Given the description of an element on the screen output the (x, y) to click on. 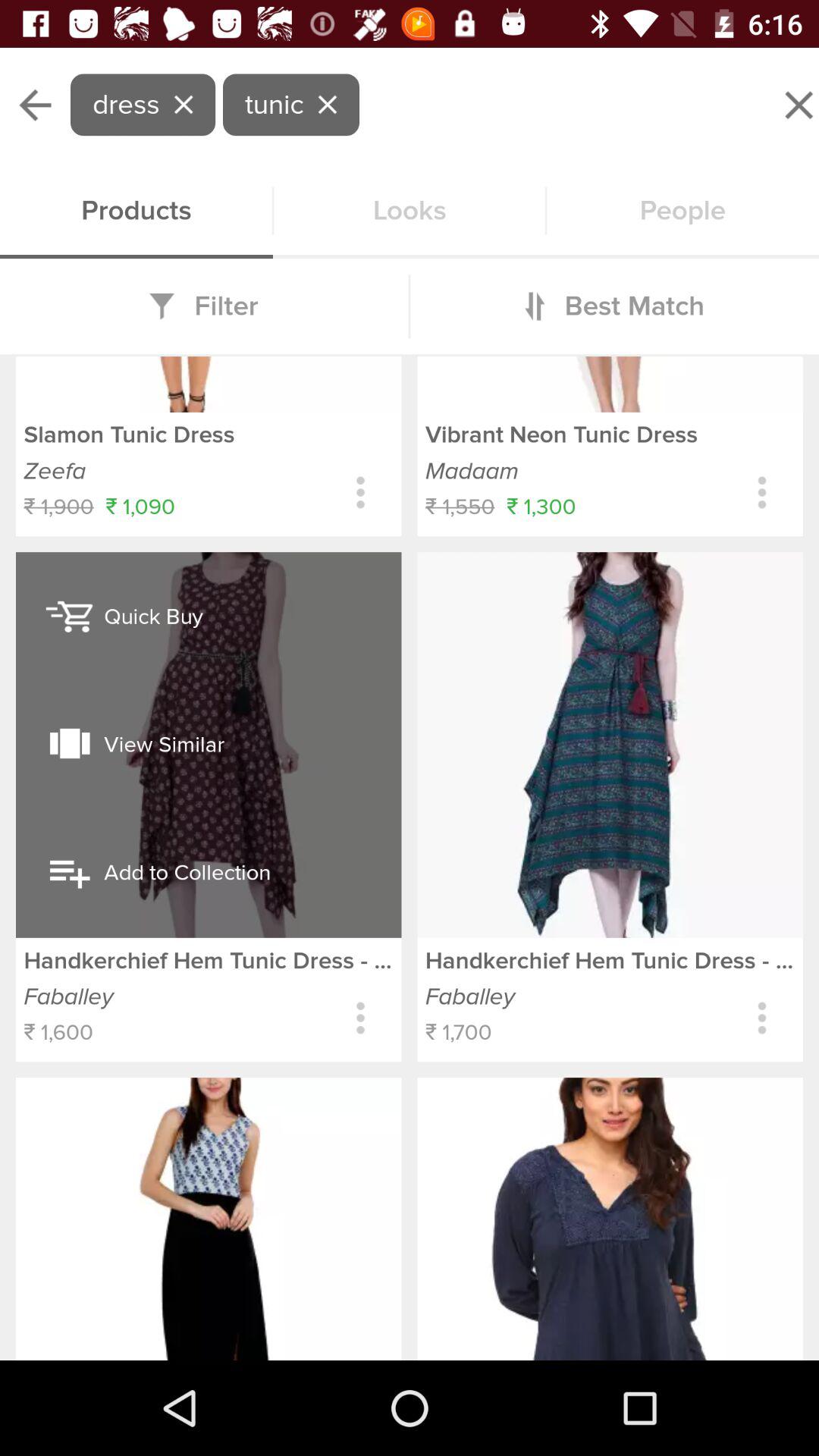
more options (762, 1017)
